Given the description of an element on the screen output the (x, y) to click on. 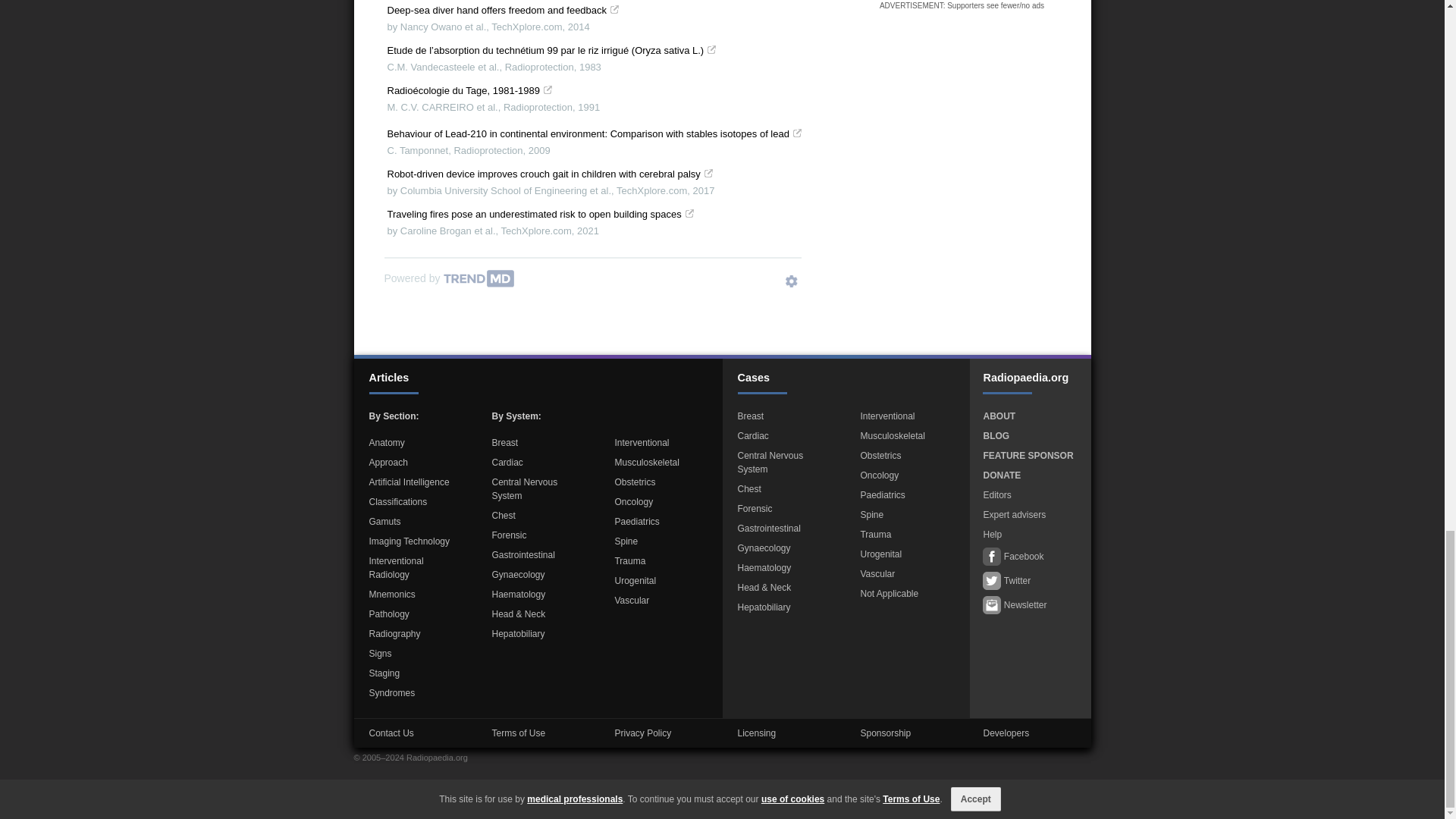
X (1434, 24)
